Given the description of an element on the screen output the (x, y) to click on. 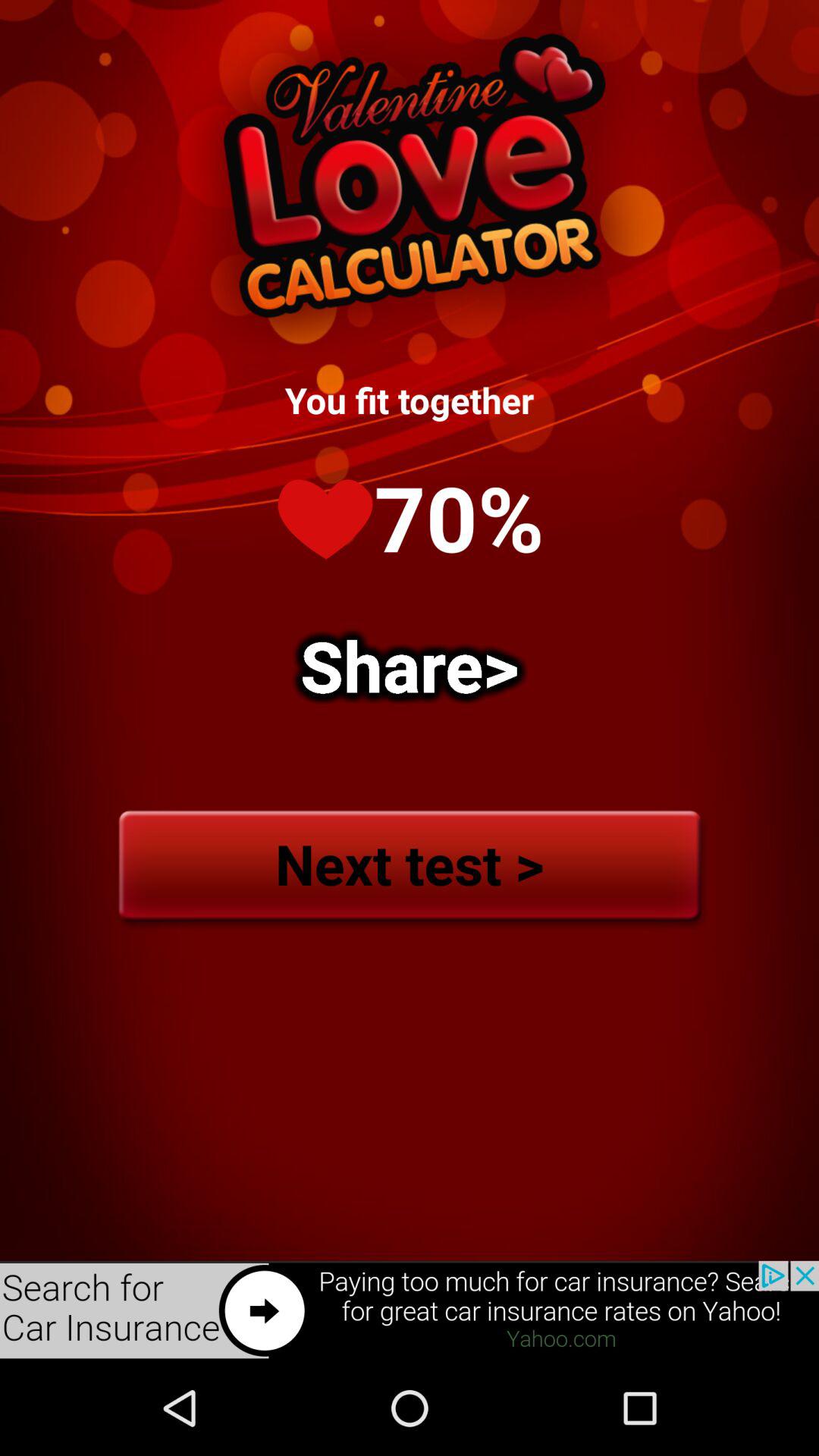
to search about car insurance (409, 1310)
